Given the description of an element on the screen output the (x, y) to click on. 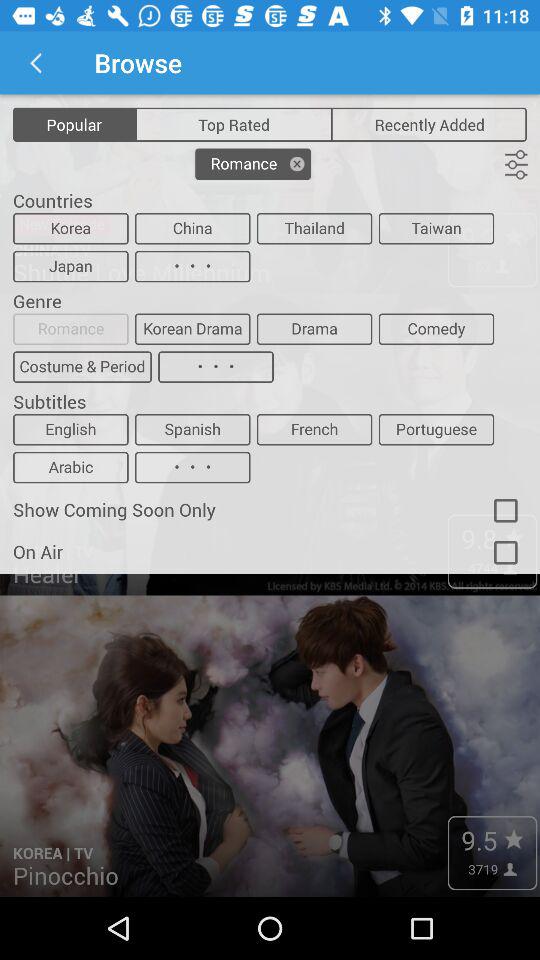
click the button on left to the adjustment icon on the web page (253, 164)
click on button which is at right side of costume  period (215, 367)
click on french button (314, 429)
click the button taiwan on the web page (436, 228)
